Given the description of an element on the screen output the (x, y) to click on. 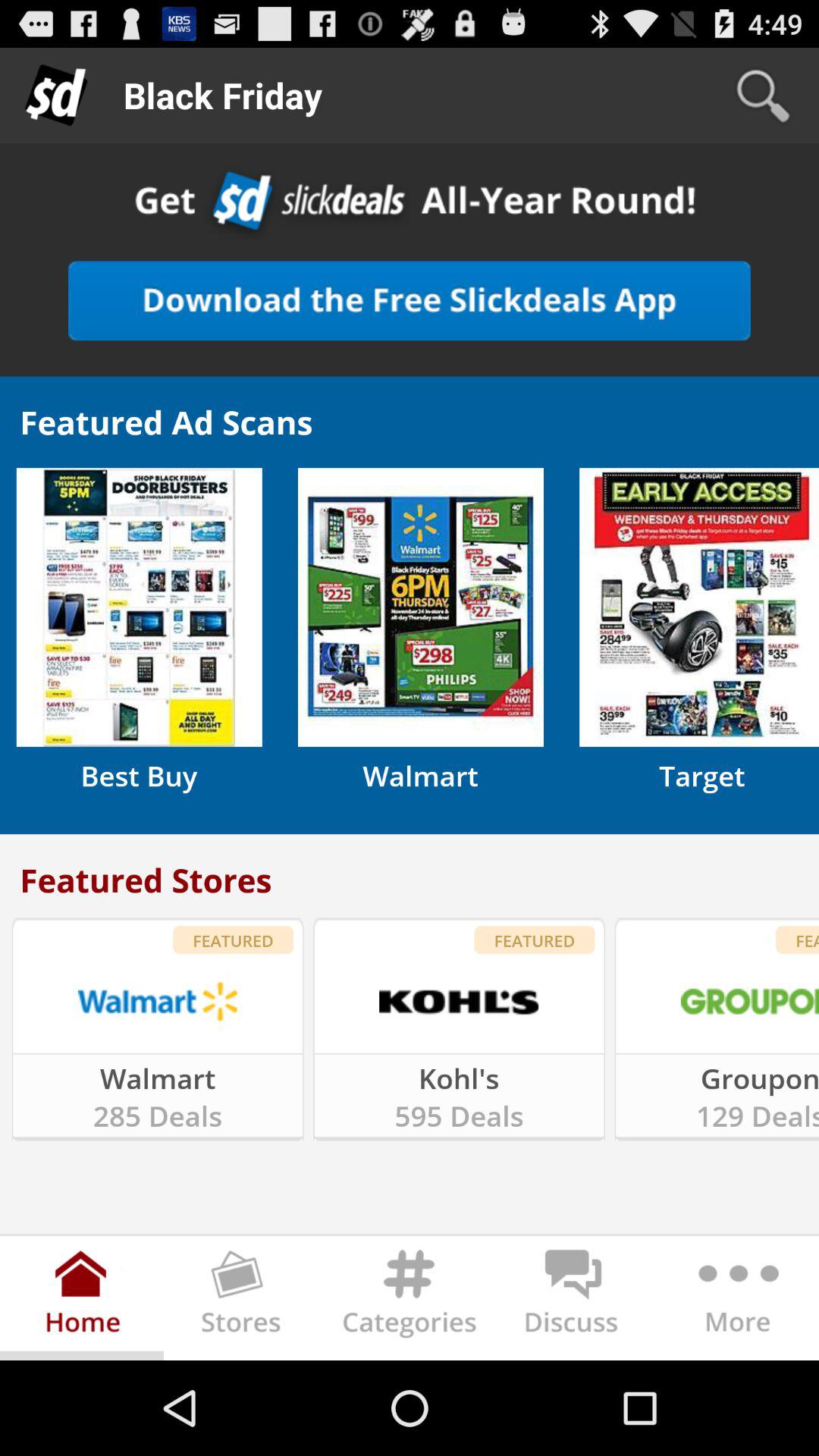
find stores (245, 1301)
